Given the description of an element on the screen output the (x, y) to click on. 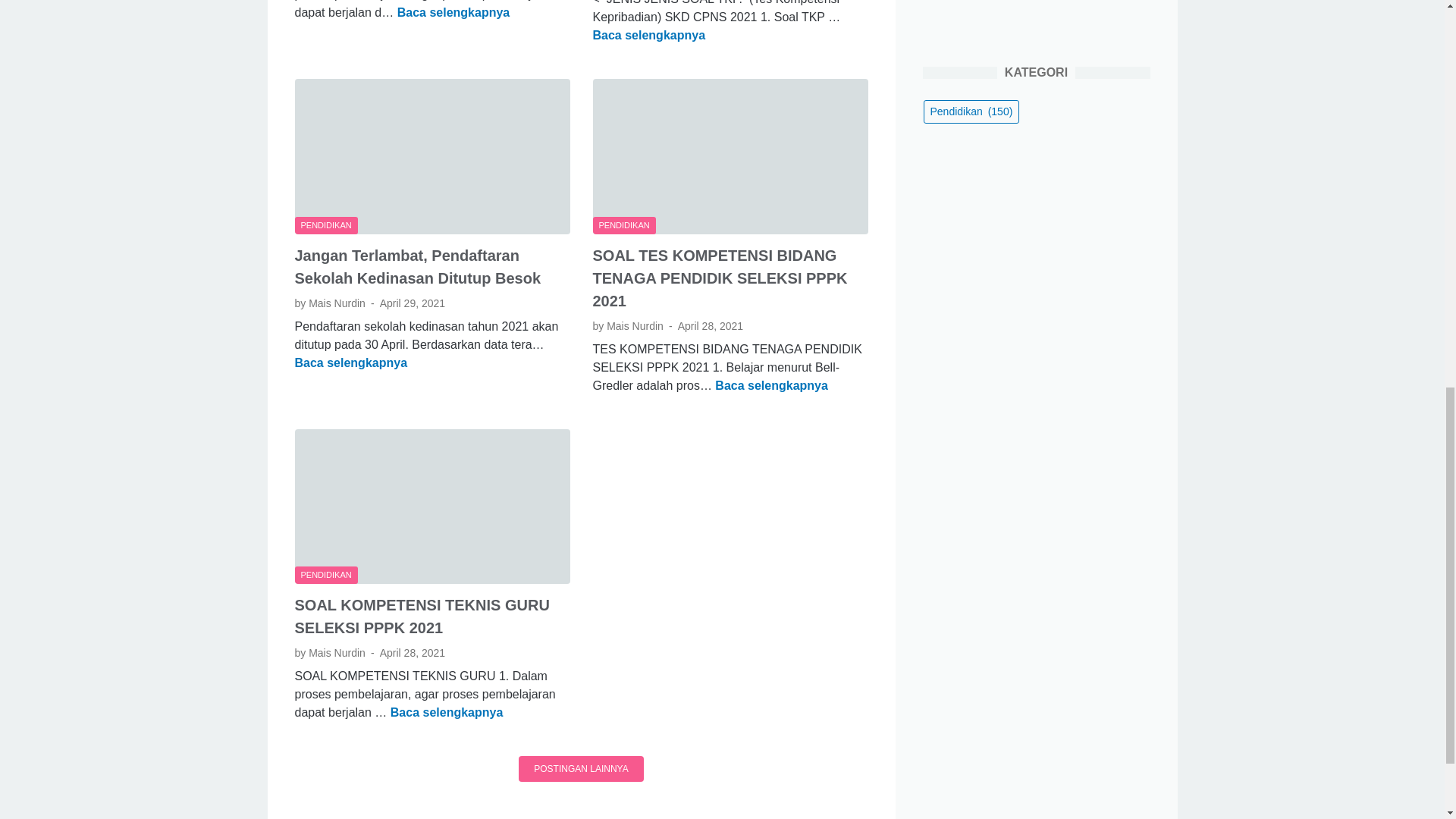
Baca selengkapnya (446, 712)
Baca selengkapnya (771, 385)
SOAL KOMPETENSI TEKNIS GURU SELEKSI PPPK 2021 (421, 616)
SOAL KOMPETENSI TEKNIS GURU SELEKSI PPPK 2021 (454, 11)
POSTINGAN LAINNYA (580, 768)
SOAL TES KOMPETENSI BIDANG TENAGA PENDIDIK SELEKSI PPPK 2021 (719, 278)
Baca selengkapnya (350, 362)
Baca selengkapnya (649, 34)
Baca selengkapnya (454, 11)
